Given the description of an element on the screen output the (x, y) to click on. 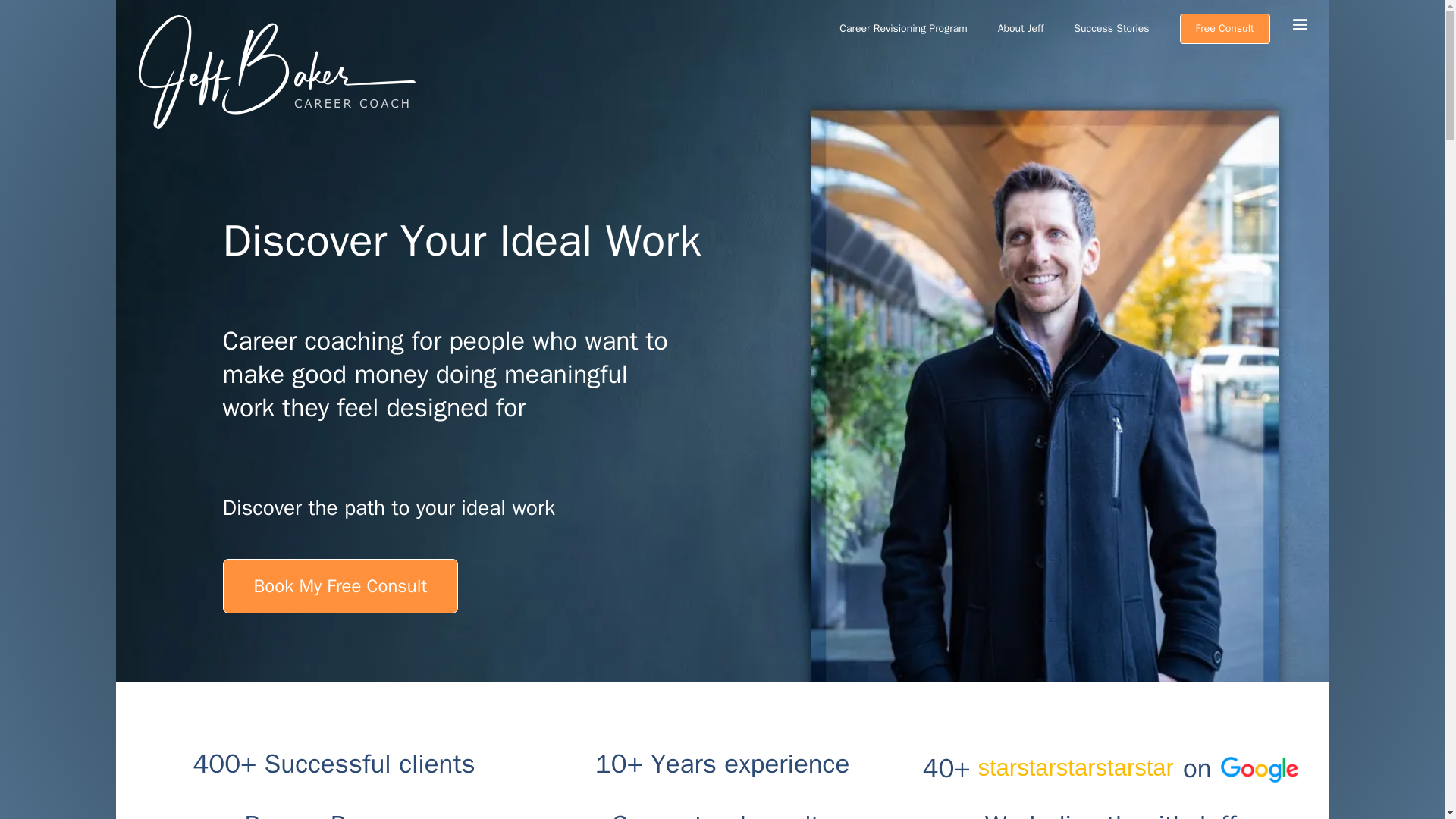
About Jeff (1020, 28)
Career Revisioning Program (903, 28)
Success Stories (1111, 28)
Free Consult (1224, 28)
Book My Free Consult (340, 585)
